Given the description of an element on the screen output the (x, y) to click on. 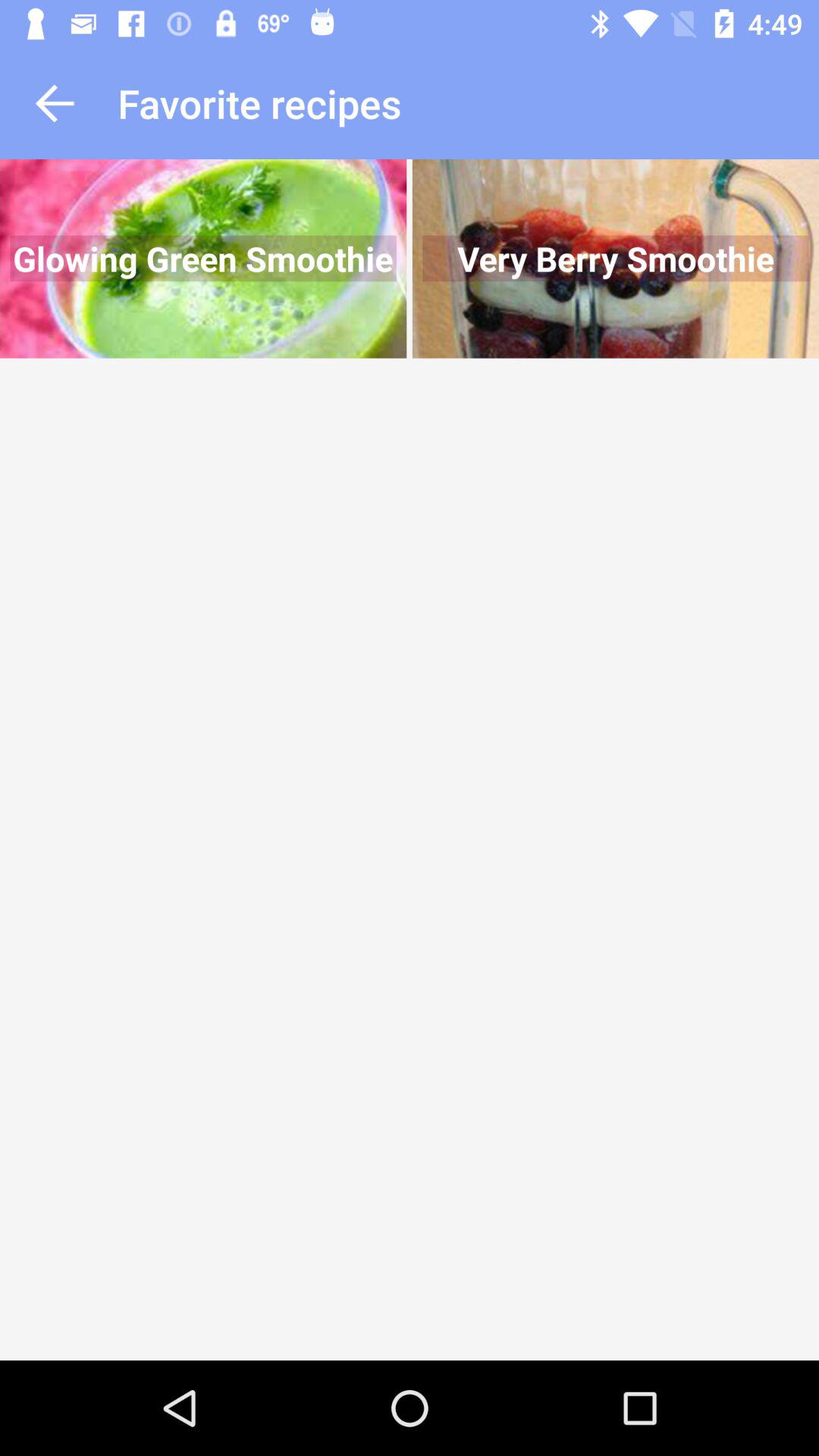
tap item to the left of favorite recipes item (54, 103)
